Given the description of an element on the screen output the (x, y) to click on. 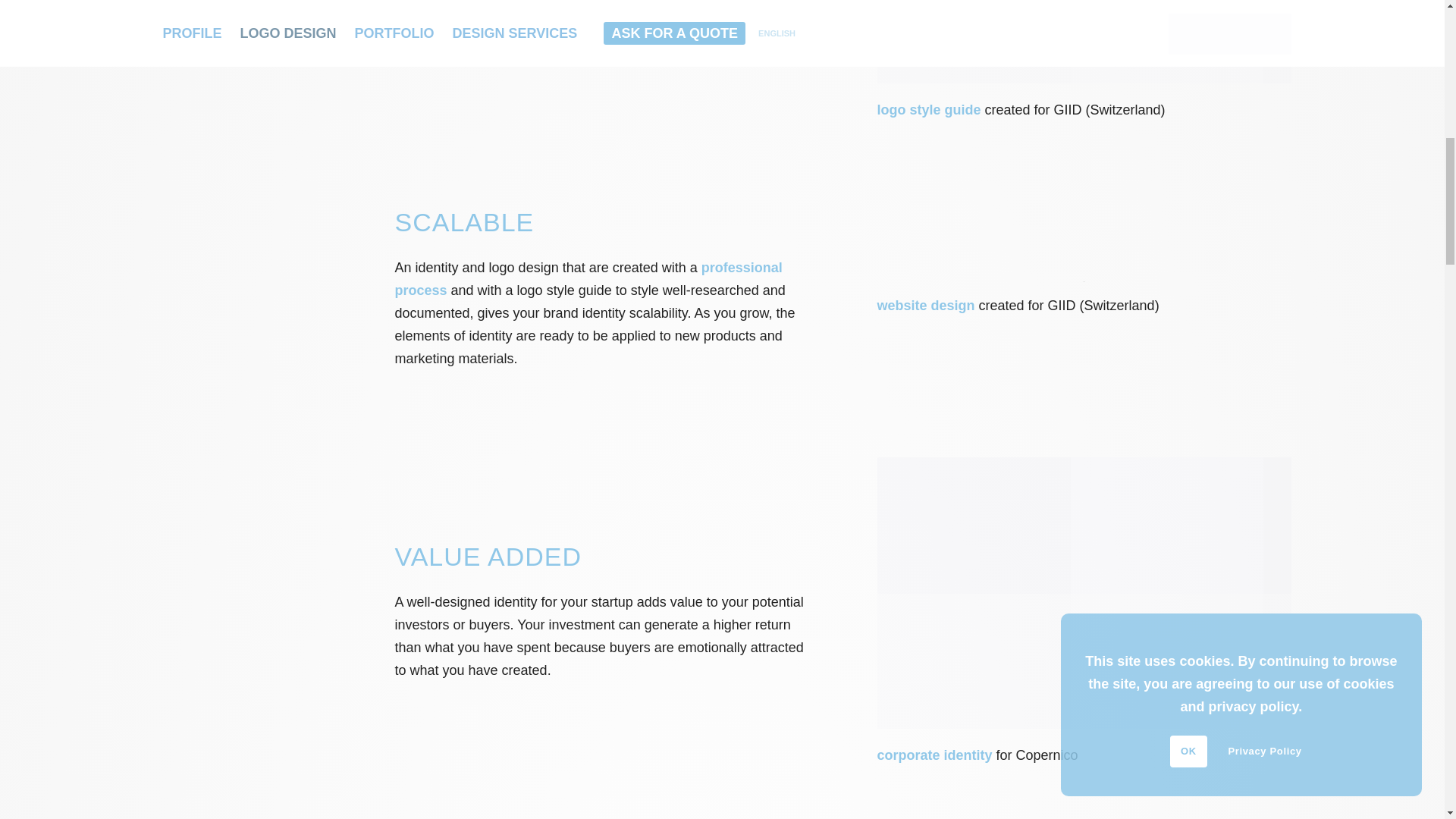
website design (925, 305)
professional process (587, 279)
logo style guide (927, 109)
corporate identity (933, 754)
